Given the description of an element on the screen output the (x, y) to click on. 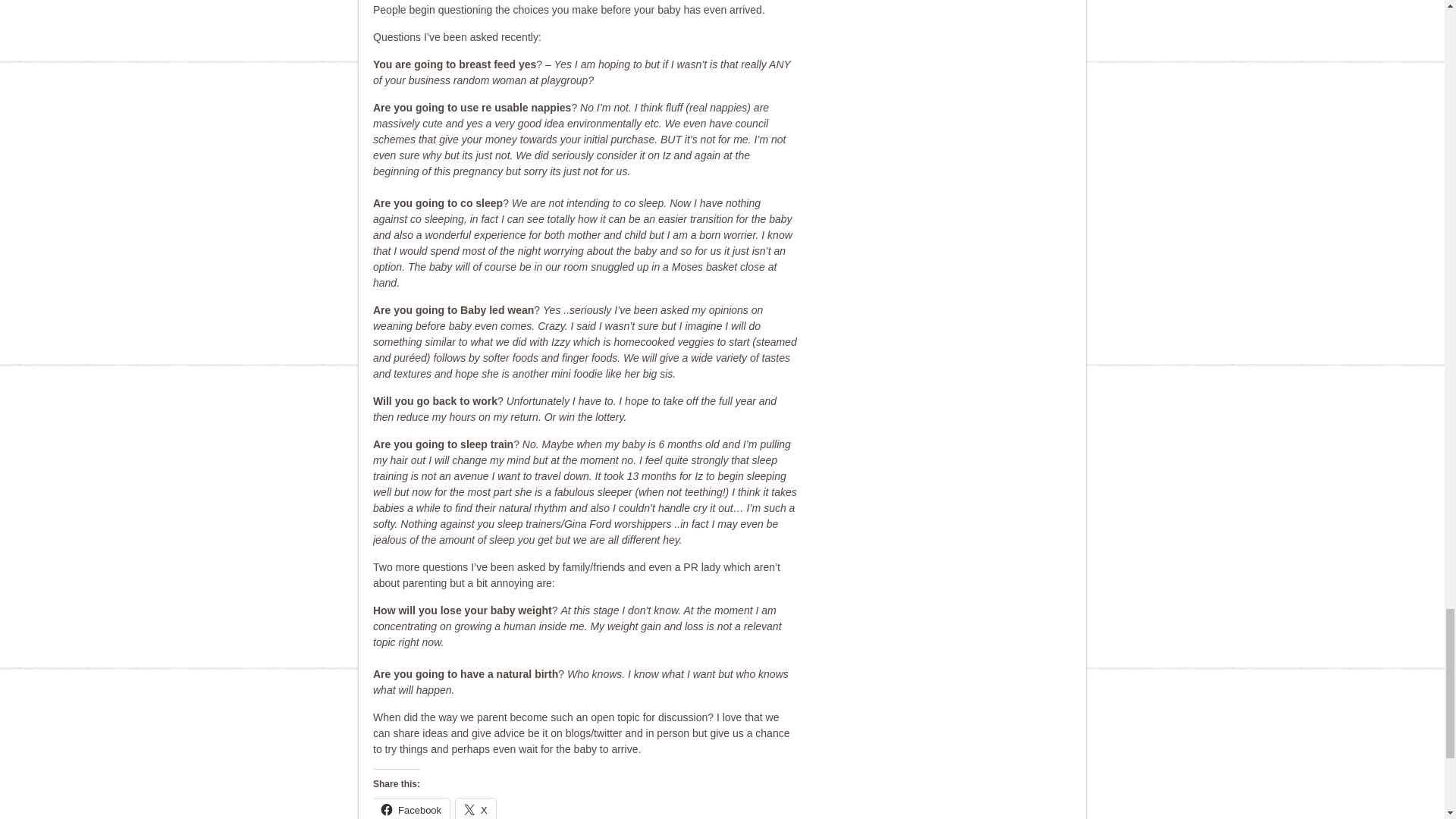
X (475, 808)
Facebook (410, 808)
Click to share on Facebook (410, 808)
Click to share on X (475, 808)
